Given the description of an element on the screen output the (x, y) to click on. 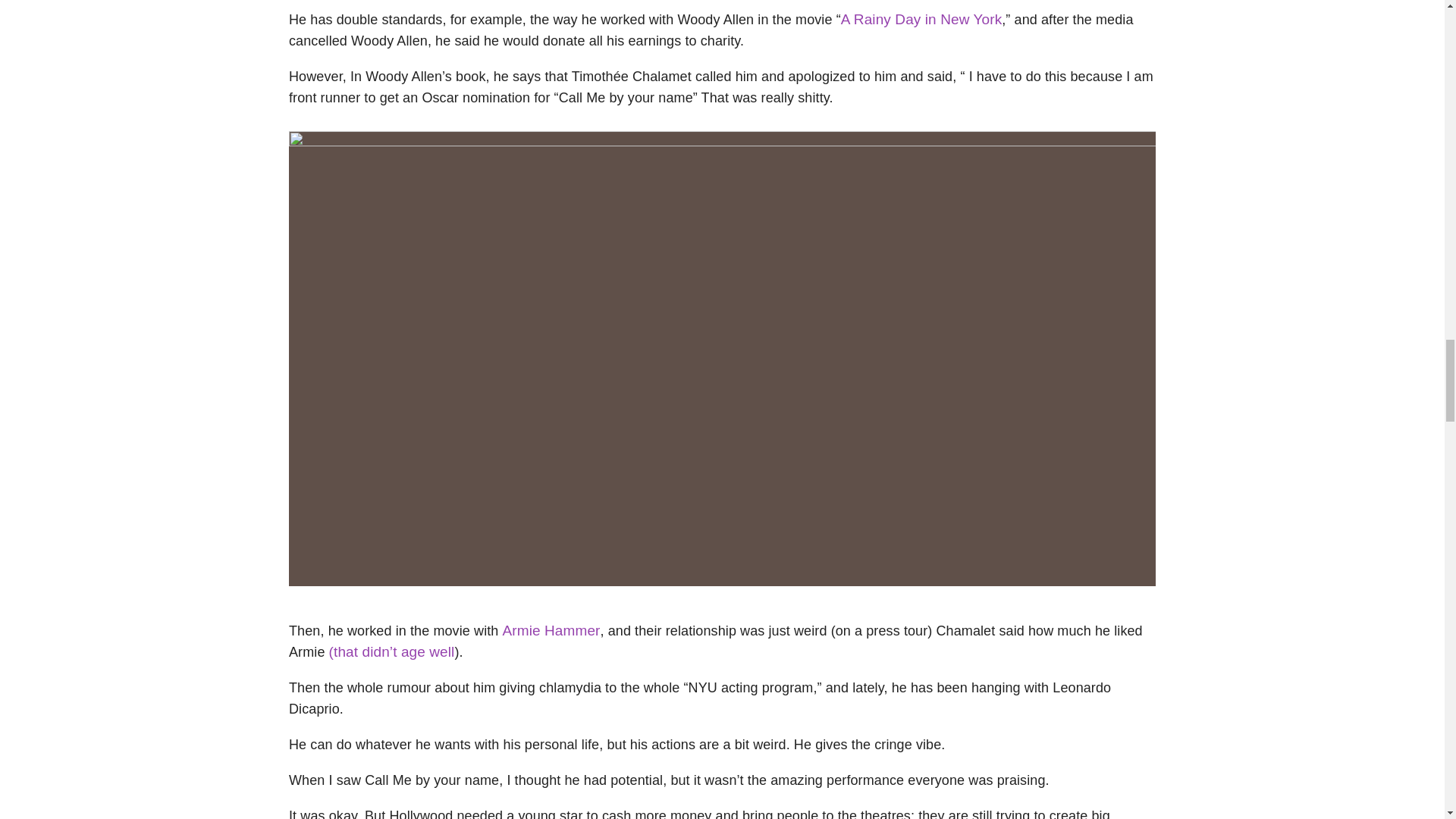
Armie Hammer (550, 630)
A Rainy Day in New York (921, 19)
